Given the description of an element on the screen output the (x, y) to click on. 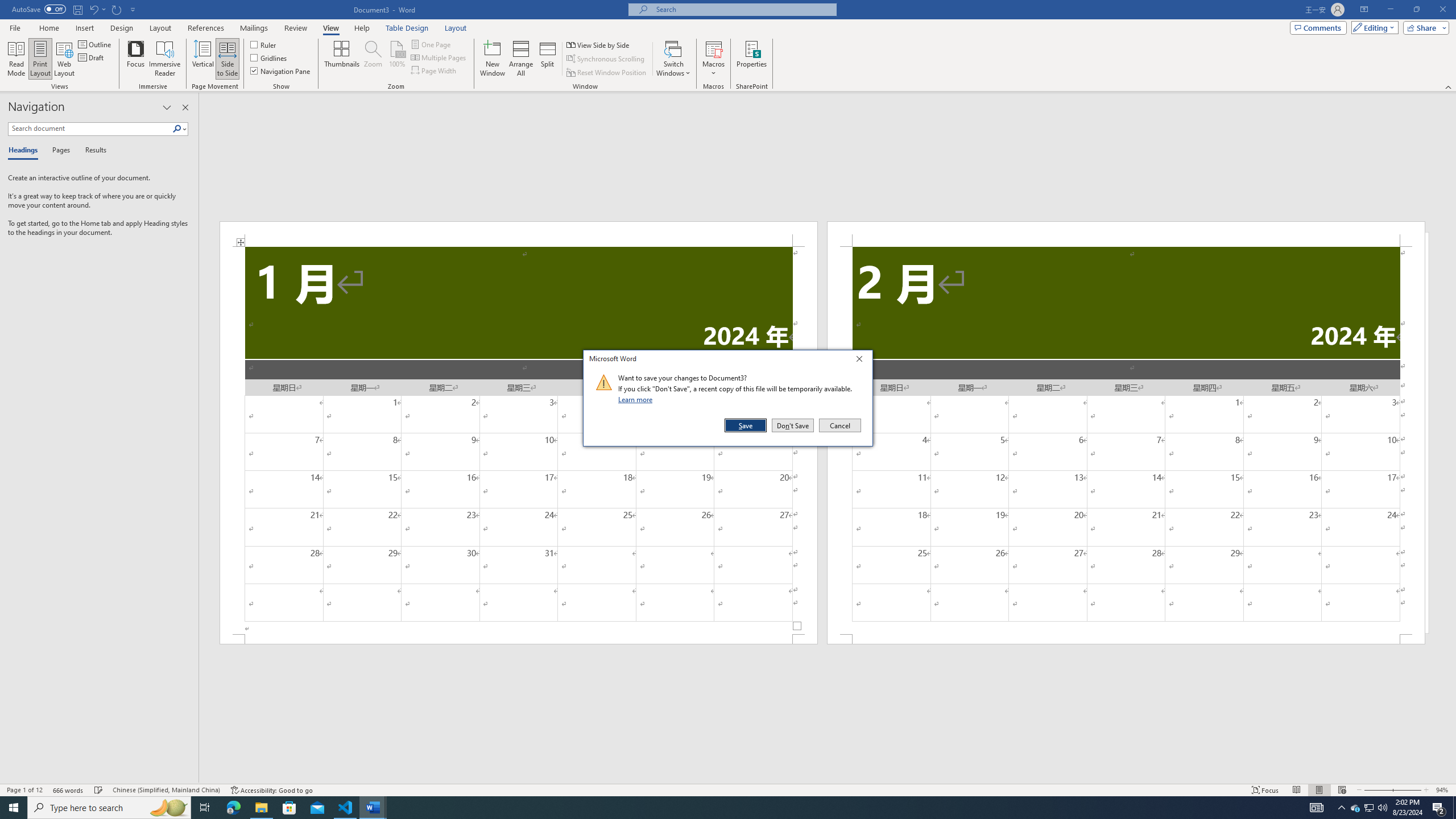
Thumbnails (342, 58)
Gridlines (269, 56)
One Page (431, 44)
